Given the description of an element on the screen output the (x, y) to click on. 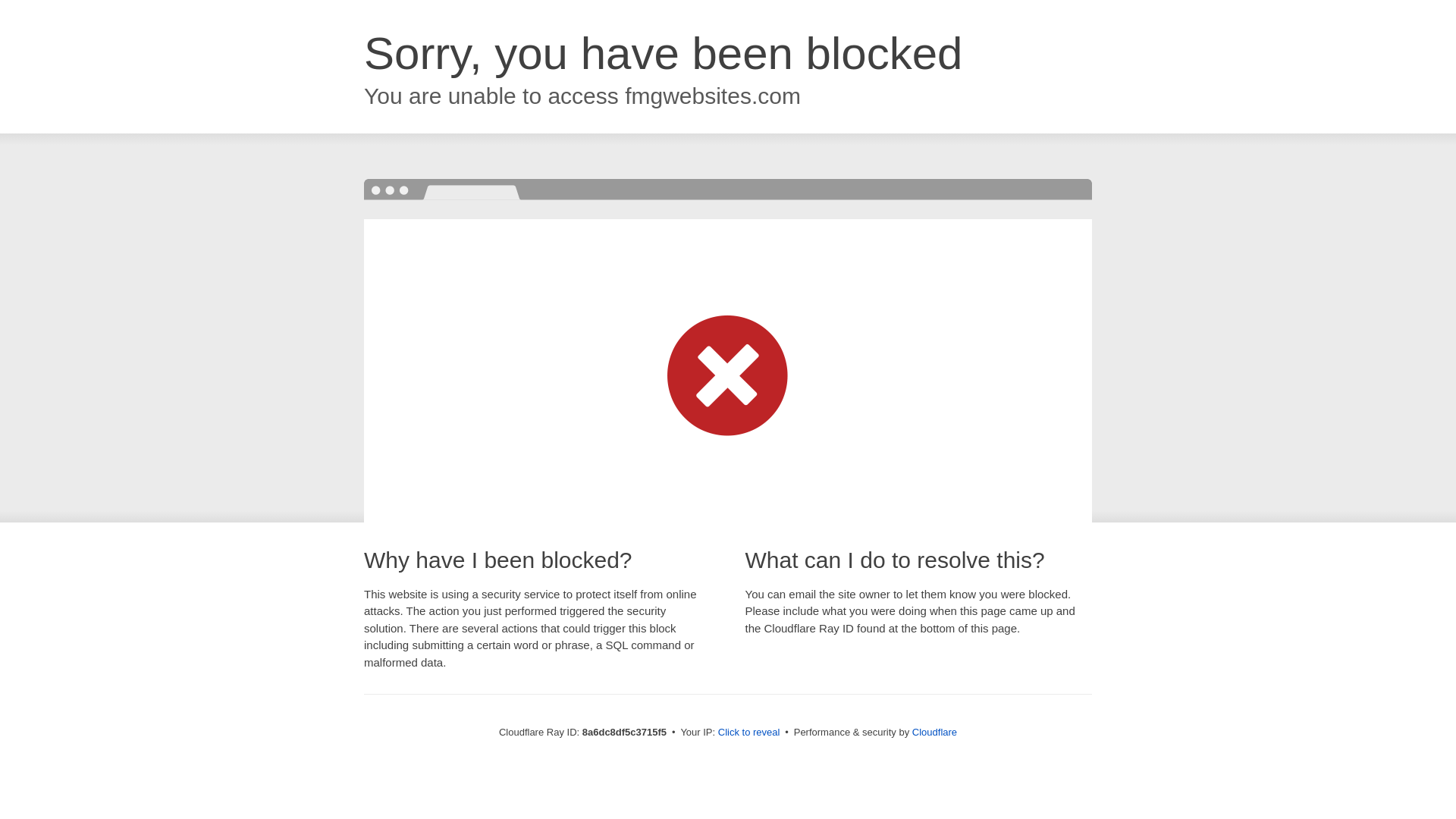
Cloudflare (934, 731)
Click to reveal (748, 732)
